Given the description of an element on the screen output the (x, y) to click on. 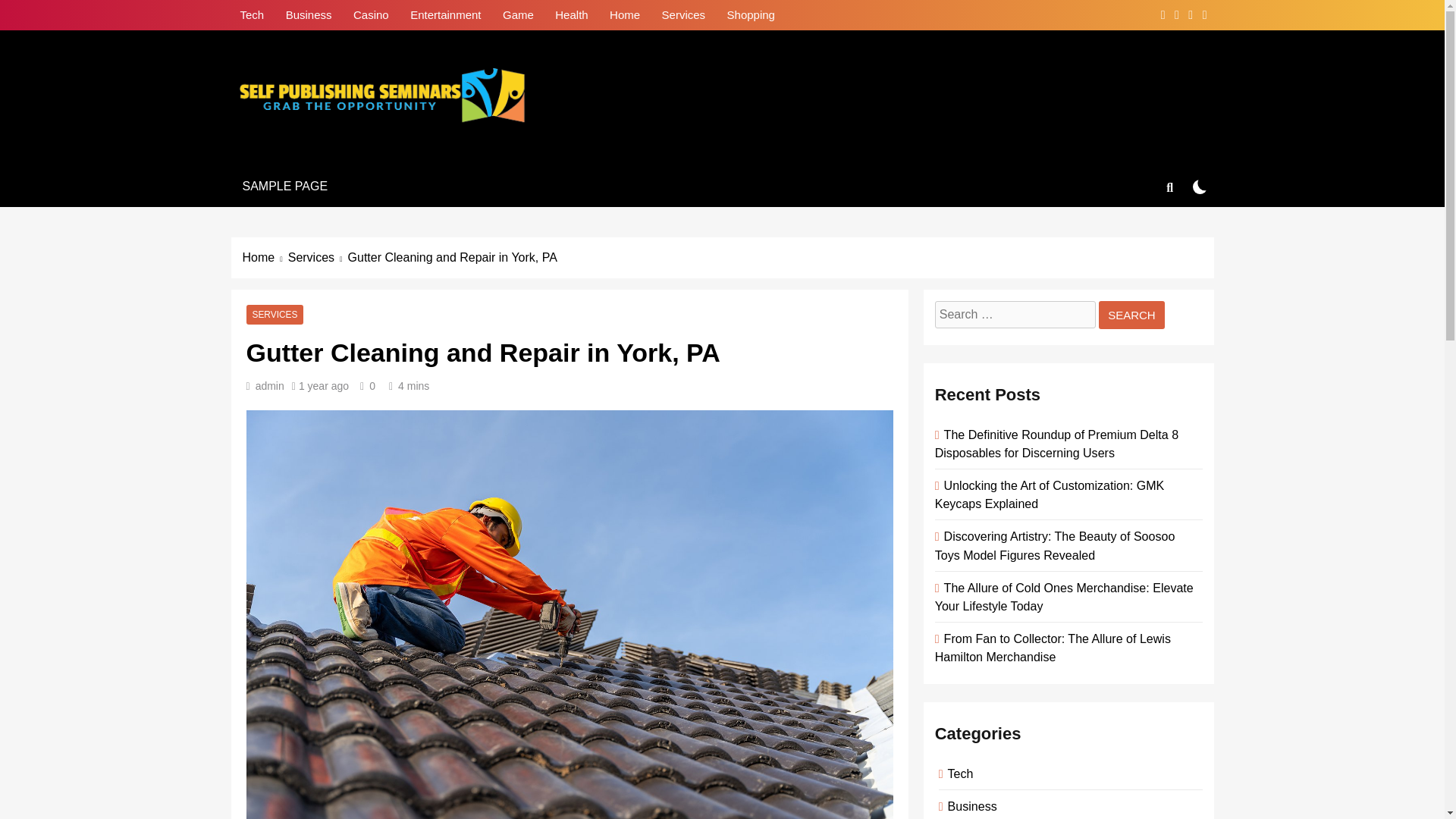
Business (308, 14)
Self Publishing Seminars (416, 152)
Services (317, 257)
Search (1131, 315)
Services (683, 14)
SAMPLE PAGE (284, 186)
on (1199, 186)
Casino (370, 14)
admin (269, 386)
Tech (251, 14)
